Given the description of an element on the screen output the (x, y) to click on. 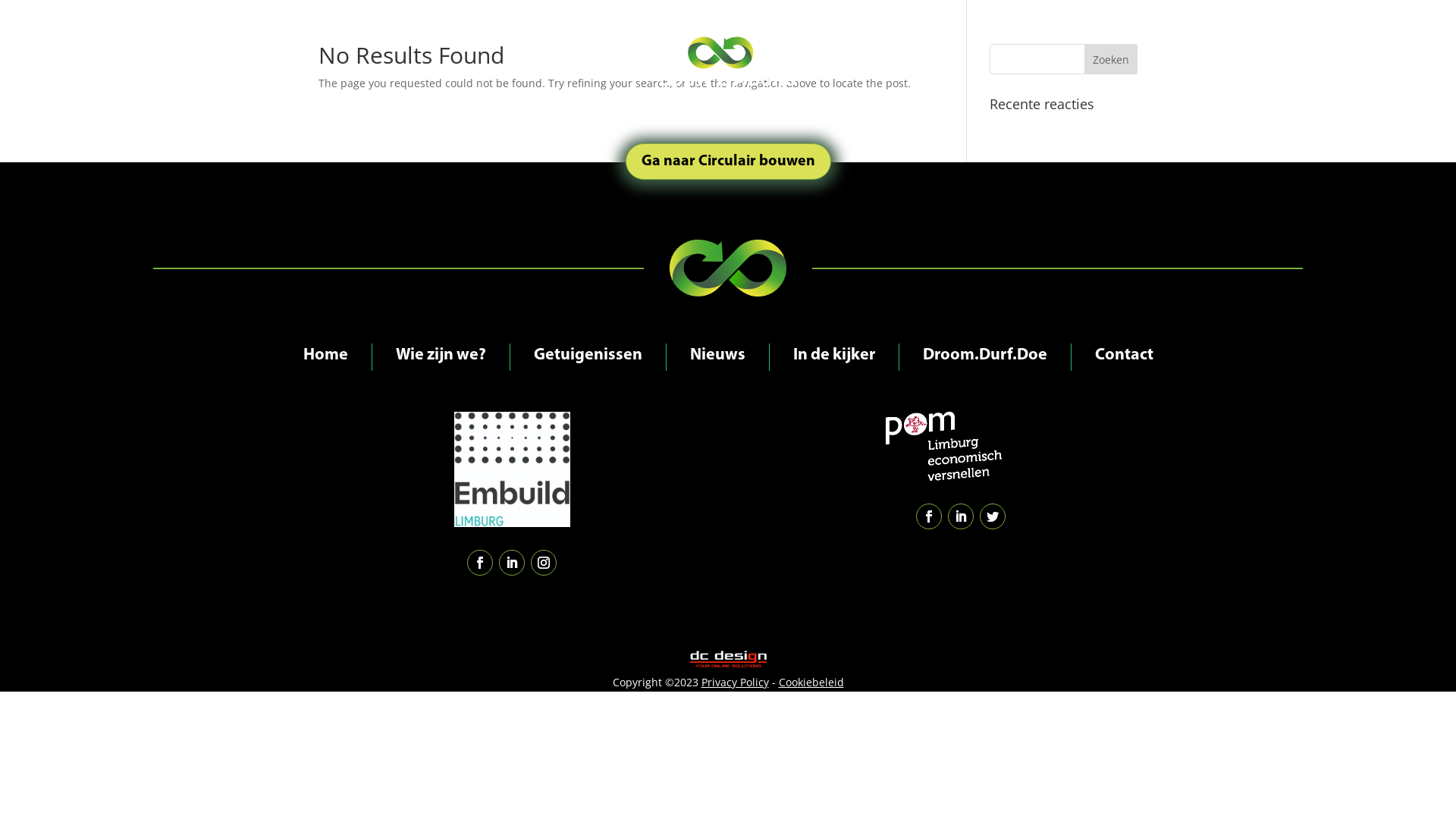
Ga naar Circulair bouwen Element type: text (727, 161)
Getuigenissen Element type: text (587, 356)
Follow on Facebook Element type: hover (479, 562)
Cookiebeleid Element type: text (810, 681)
In de kijker Element type: text (834, 356)
Logo wit boostbouw Limburg Element type: hover (727, 52)
Follow on LinkedIn Element type: hover (960, 516)
Home Element type: text (325, 356)
Follow on Twitter Element type: hover (992, 516)
Wie zijn we? Element type: text (440, 356)
Privacy Policy Element type: text (734, 681)
Follow on Facebook Element type: hover (928, 516)
Zoeken Element type: text (1110, 58)
Pom negatieve kleur Element type: hover (943, 445)
Follow on Instagram Element type: hover (543, 562)
Contact Element type: text (1123, 356)
Droom.Durf.Doe Element type: text (983, 356)
Nieuws Element type: text (717, 356)
image001 Element type: hover (512, 469)
Follow on LinkedIn Element type: hover (511, 562)
